Given the description of an element on the screen output the (x, y) to click on. 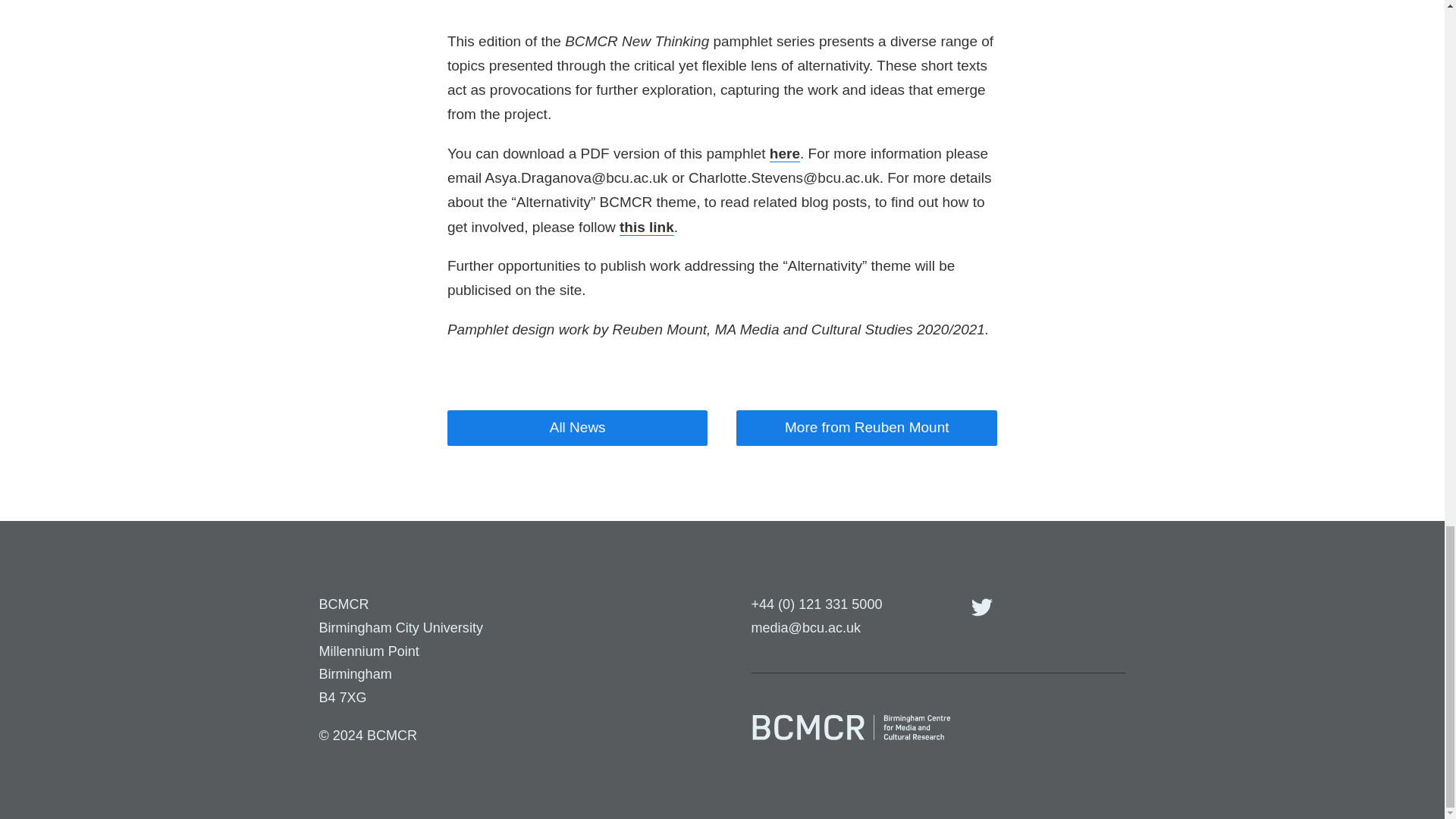
More from Reuben Mount (866, 427)
All News (576, 427)
here (784, 153)
this link (647, 227)
